Given the description of an element on the screen output the (x, y) to click on. 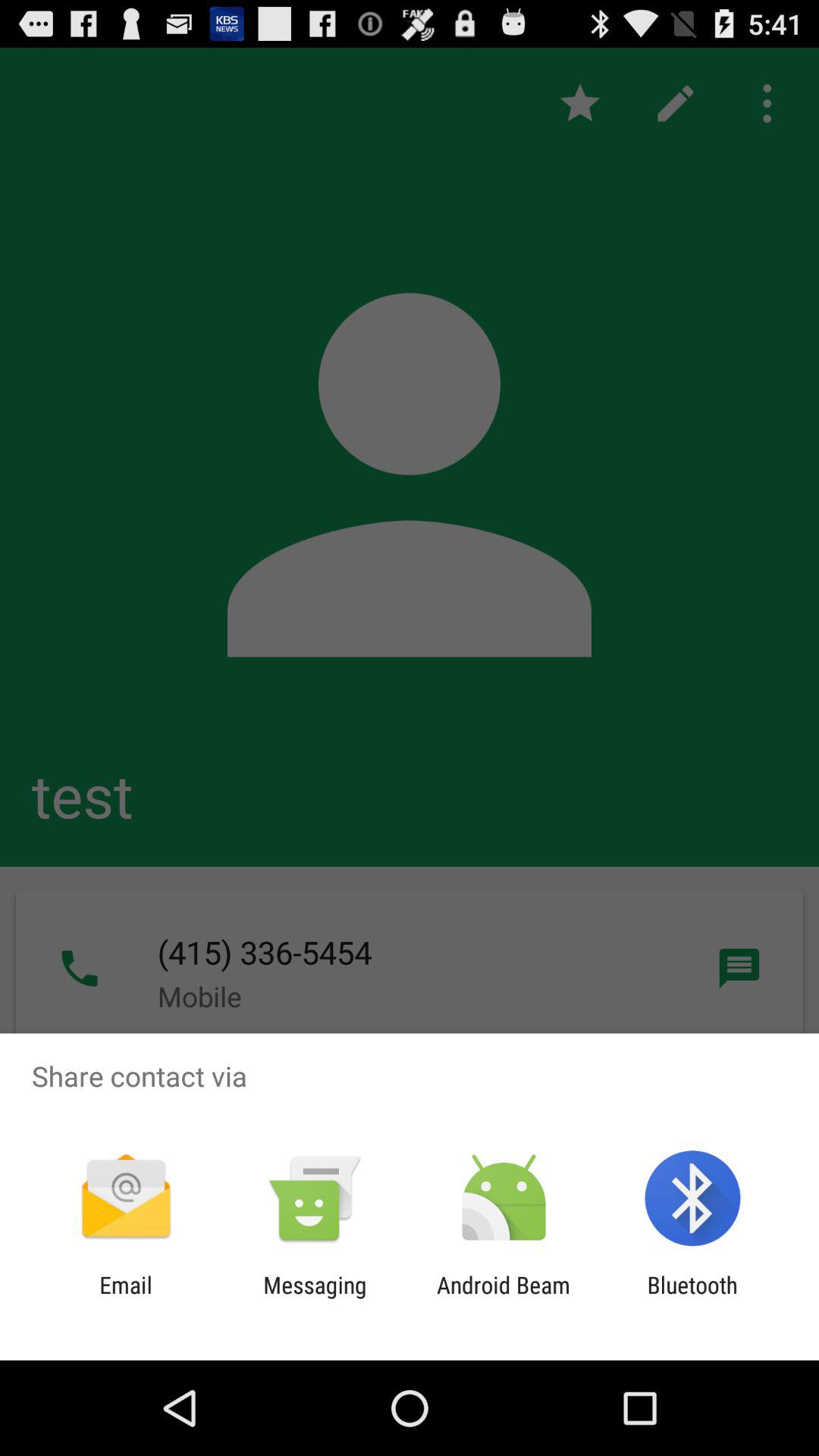
jump until android beam (503, 1298)
